Given the description of an element on the screen output the (x, y) to click on. 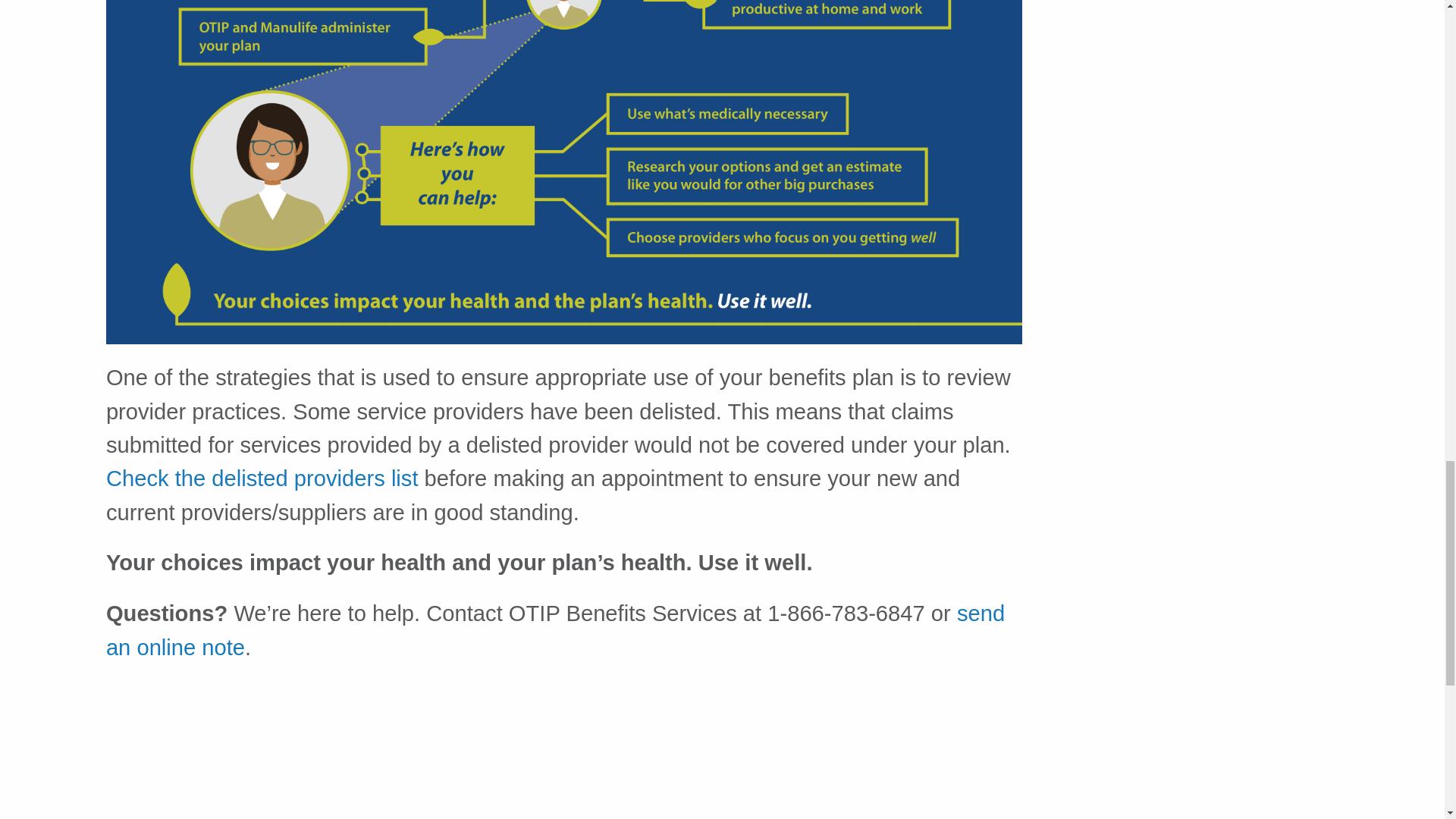
send an online note (555, 630)
Check the delisted providers list (262, 478)
